Given the description of an element on the screen output the (x, y) to click on. 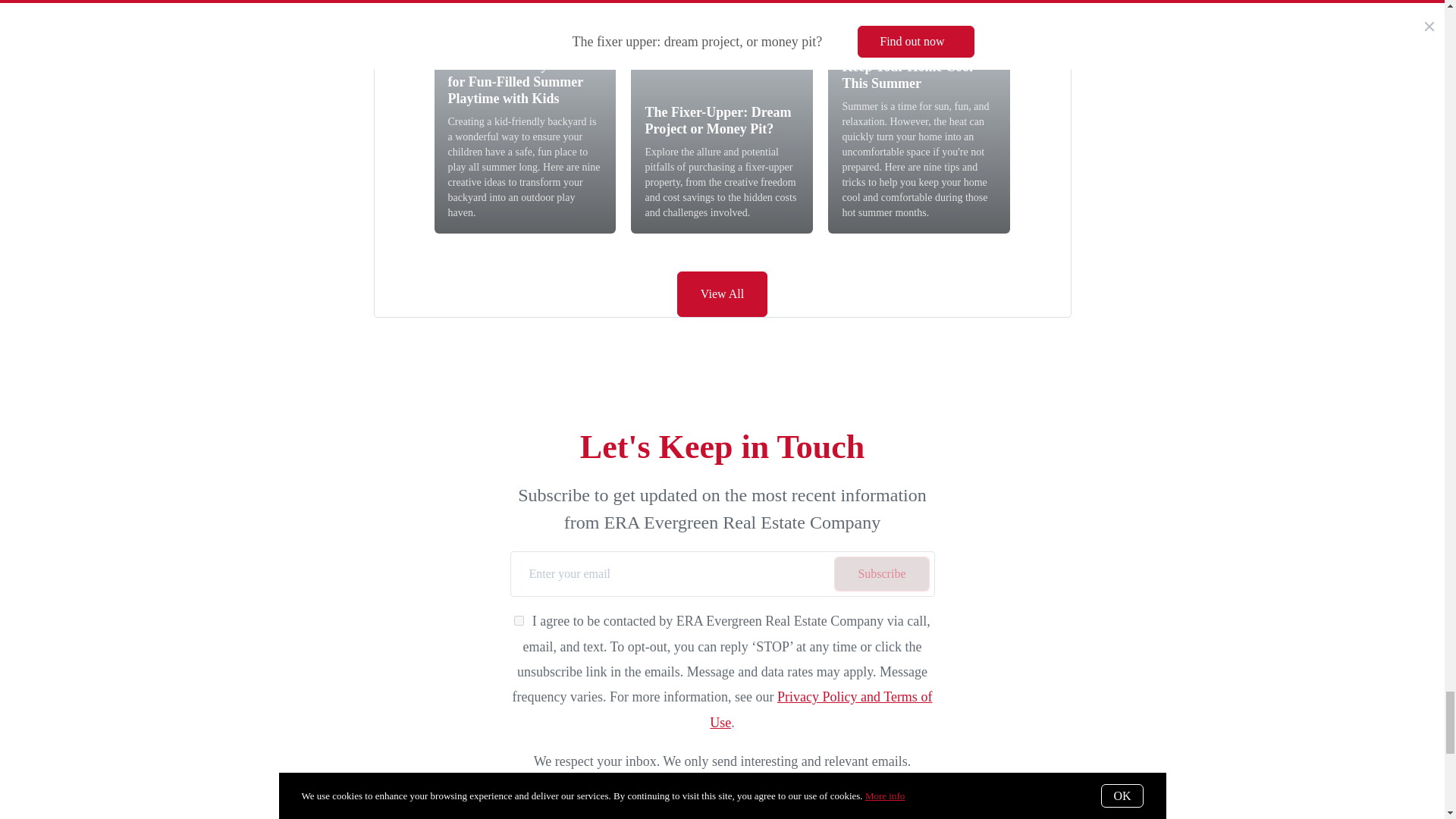
on (518, 620)
